Given the description of an element on the screen output the (x, y) to click on. 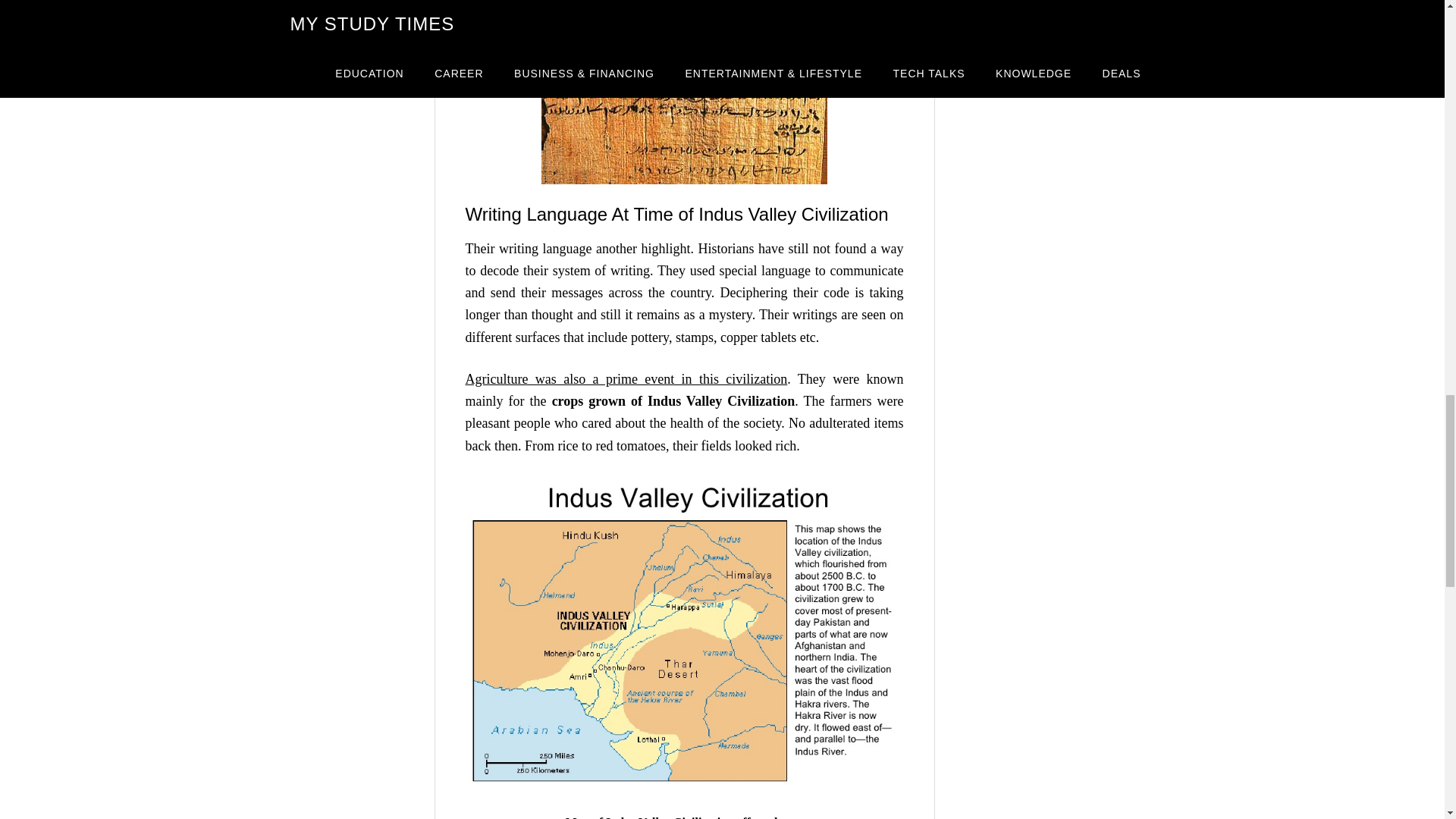
Indus Valley Civilization Essay, History, Article 3 (684, 92)
